Given the description of an element on the screen output the (x, y) to click on. 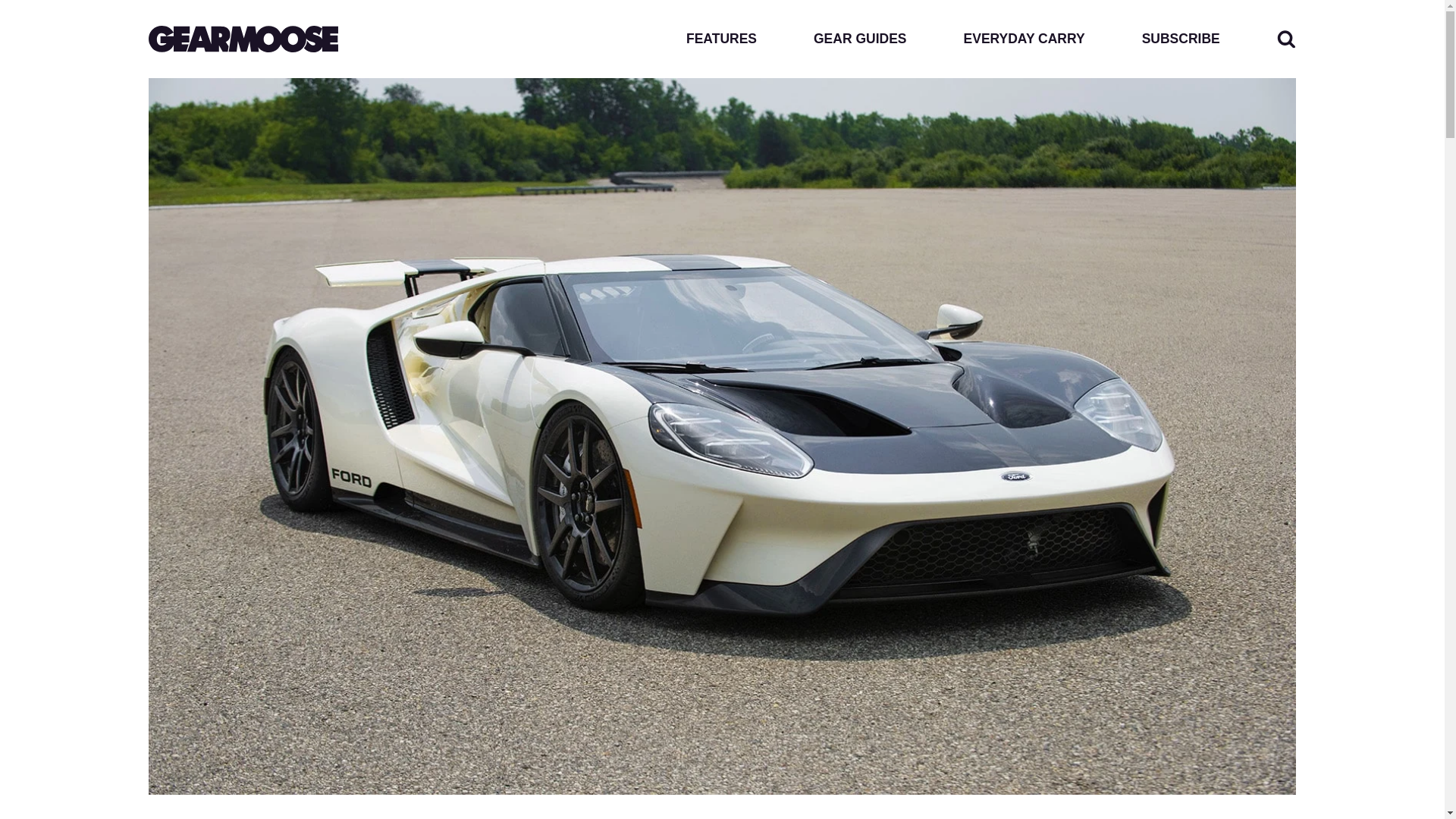
SUBSCRIBE (1180, 38)
FEATURES (721, 38)
EVERYDAY CARRY (1023, 38)
GEAR GUIDES (860, 38)
Toggle search form (1285, 38)
